Given the description of an element on the screen output the (x, y) to click on. 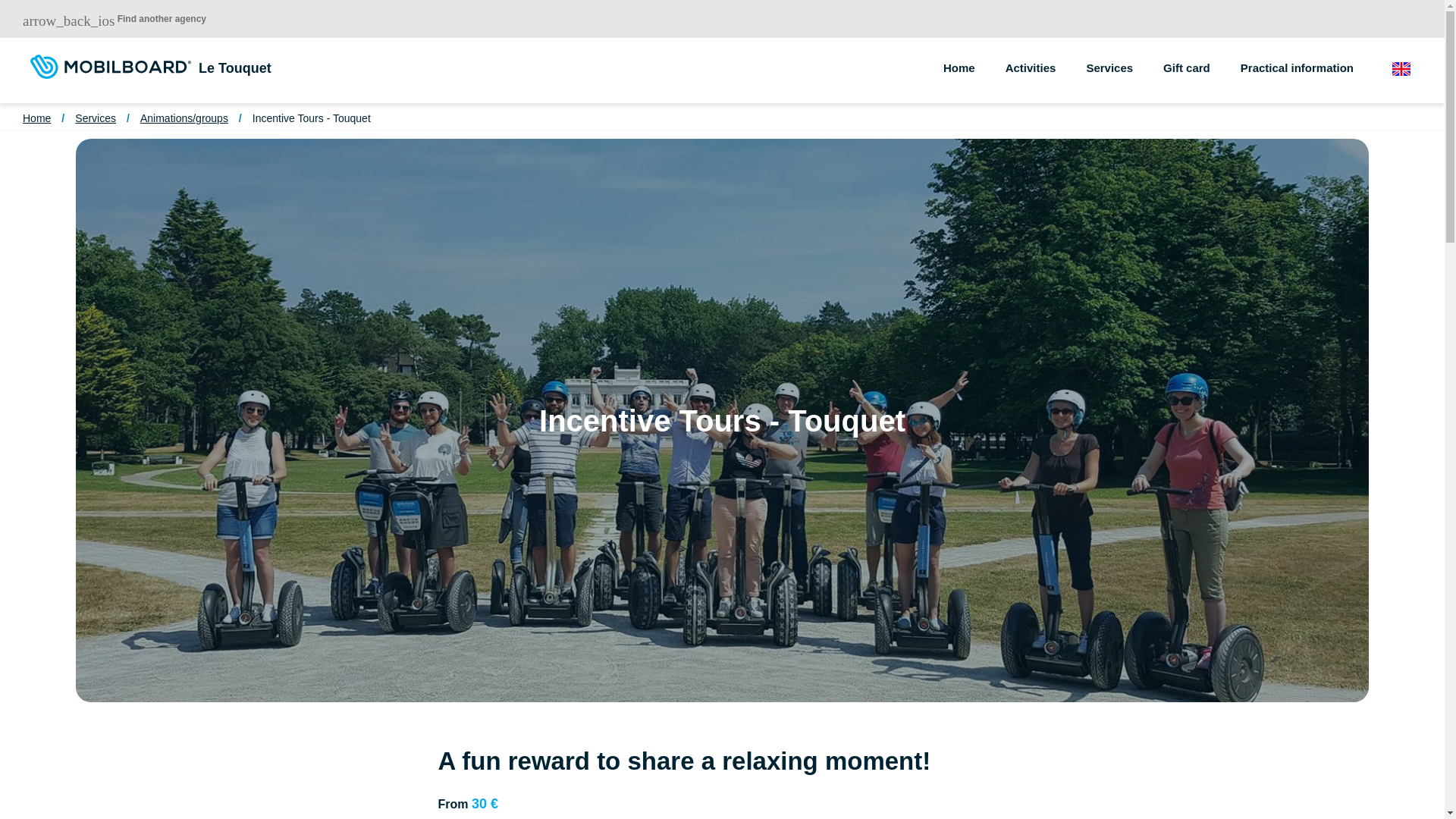
Services (95, 118)
Home (974, 55)
Incentive Tours - Touquet (311, 118)
Home (36, 118)
Practical information (1312, 55)
English (1410, 69)
Gift card (1201, 55)
